Given the description of an element on the screen output the (x, y) to click on. 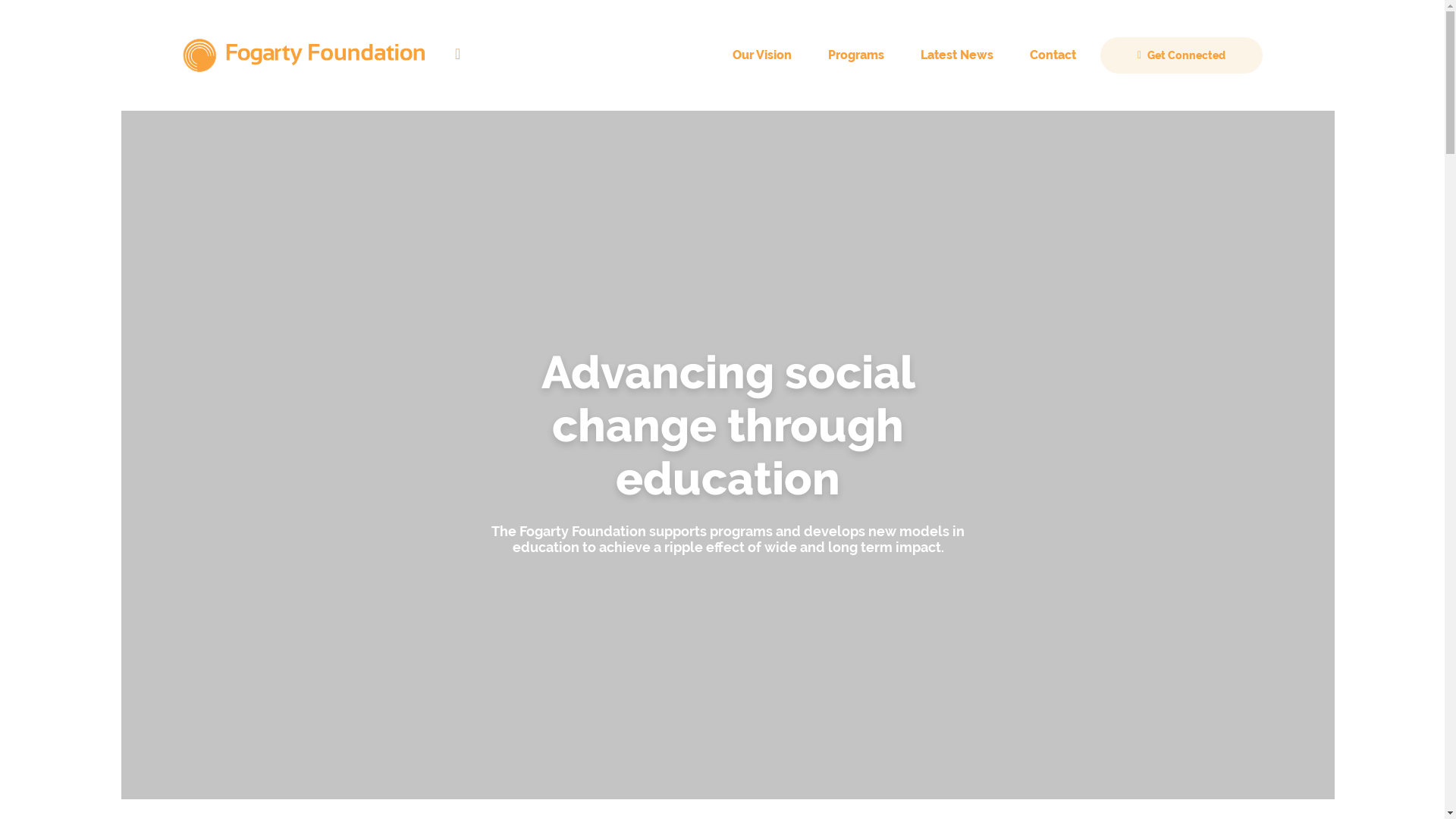
Our Vision Element type: text (761, 54)
Get Connected Element type: text (1181, 55)
Latest News Element type: text (956, 54)
Contact Element type: text (1052, 54)
Programs Element type: text (856, 54)
